Given the description of an element on the screen output the (x, y) to click on. 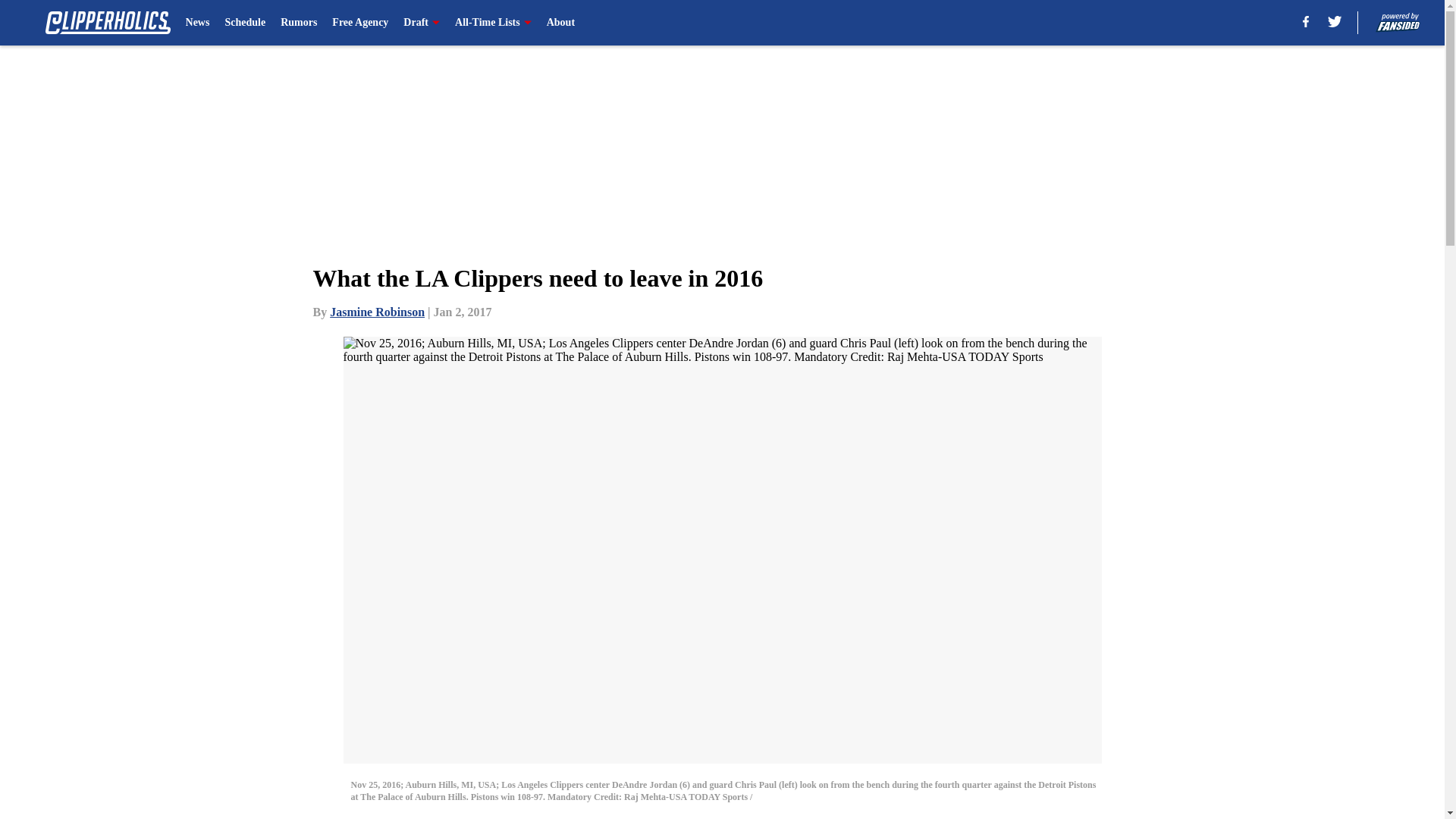
Jasmine Robinson (377, 311)
Free Agency (359, 22)
All-Time Lists (492, 22)
About (561, 22)
Rumors (299, 22)
News (197, 22)
Draft (421, 22)
Schedule (244, 22)
